Given the description of an element on the screen output the (x, y) to click on. 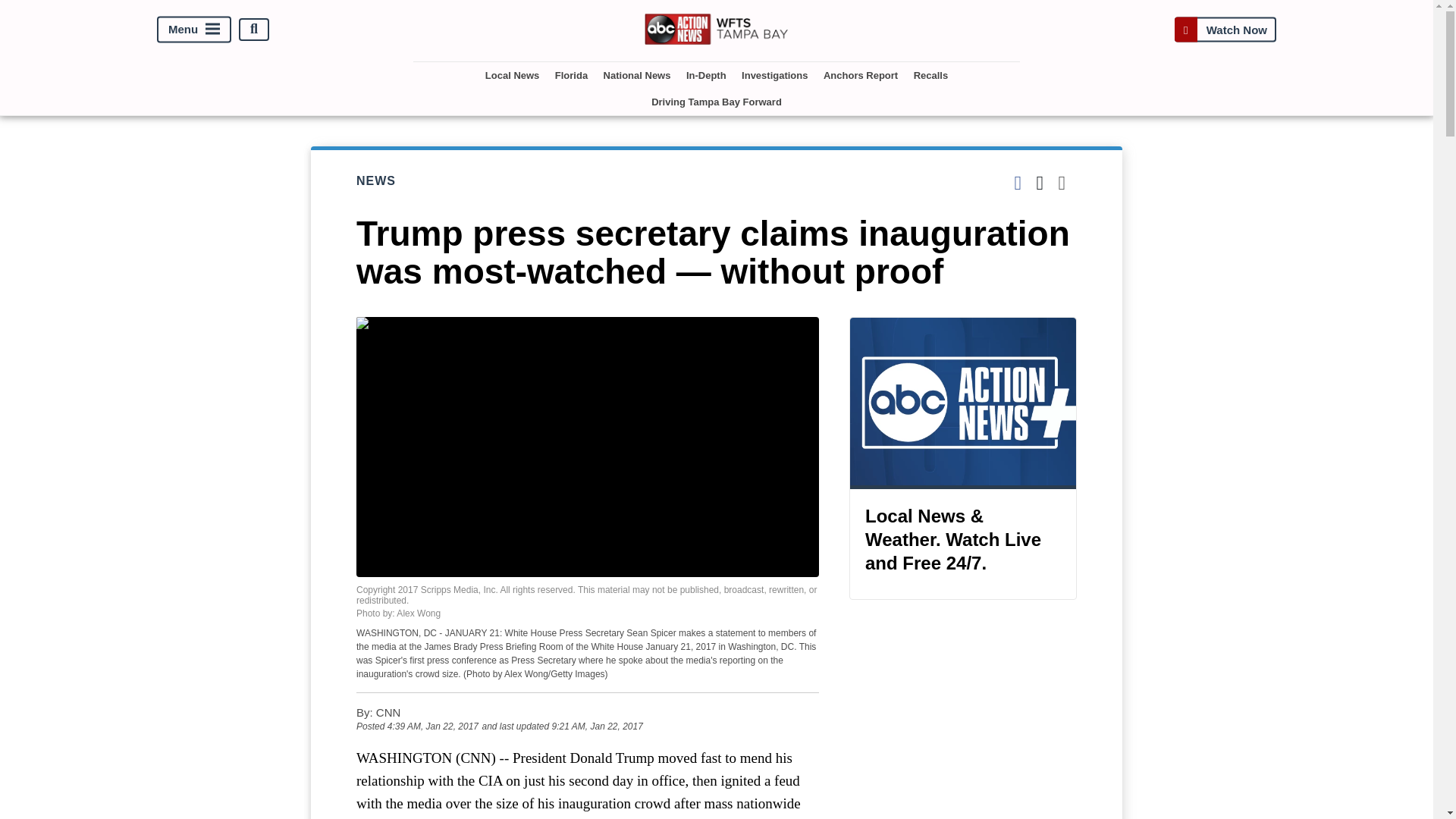
Menu (194, 28)
Watch Now (1224, 29)
